Given the description of an element on the screen output the (x, y) to click on. 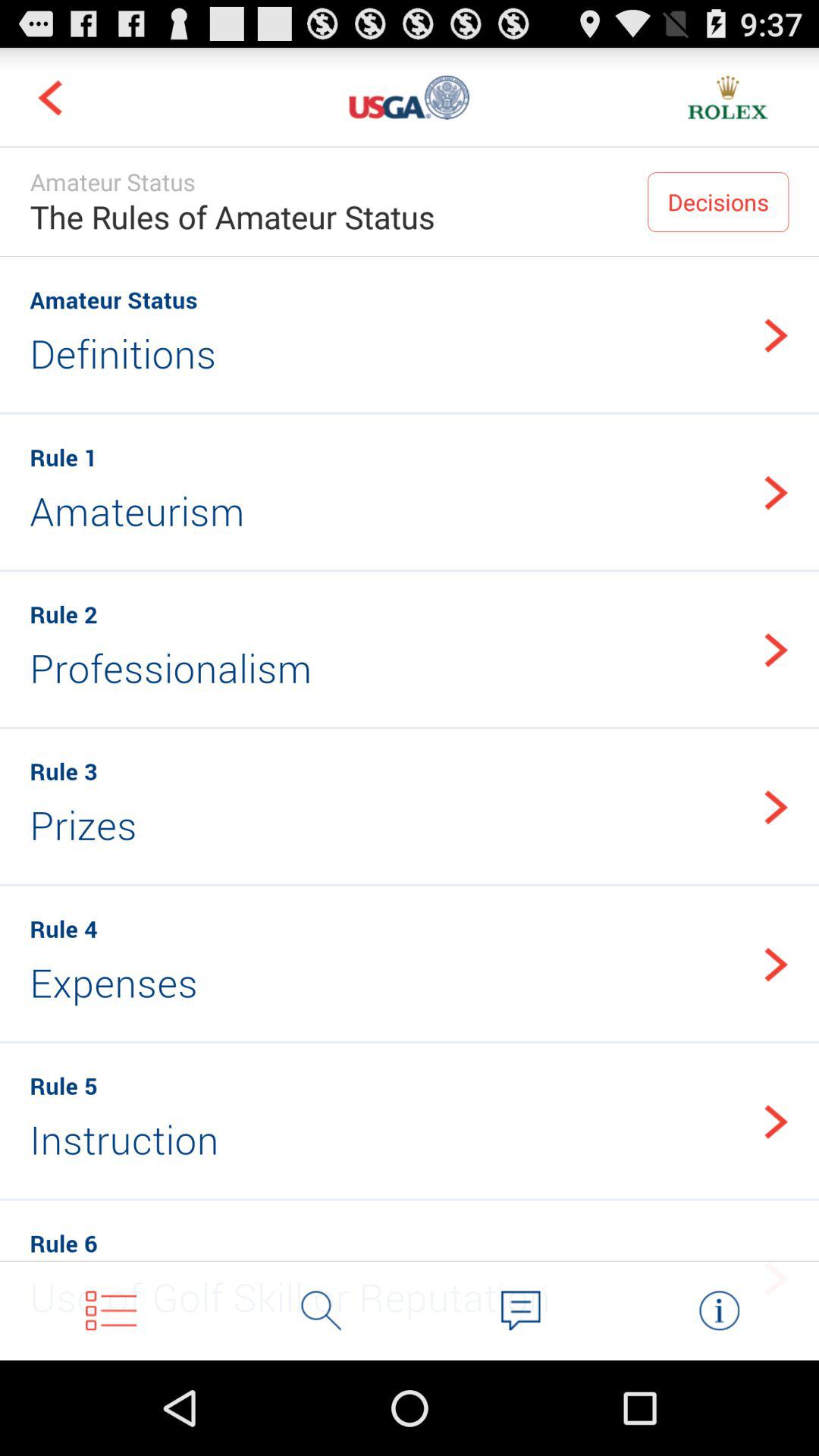
search functionality (321, 1310)
